Given the description of an element on the screen output the (x, y) to click on. 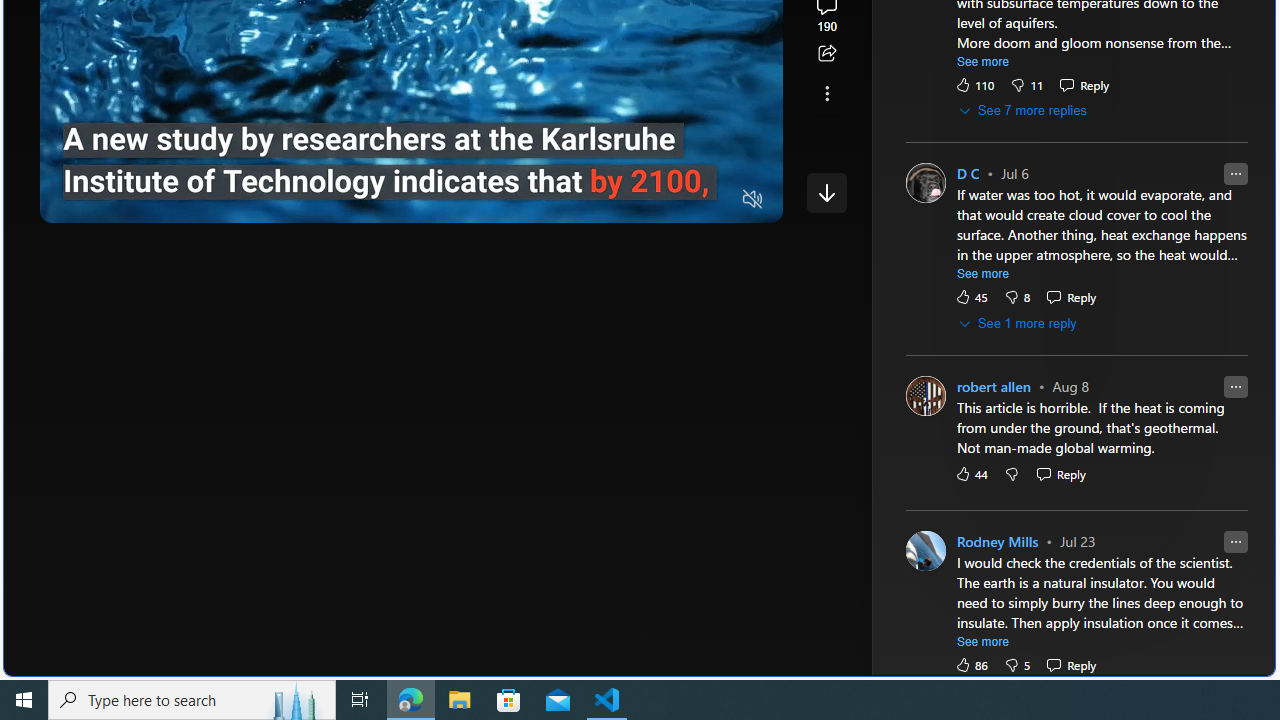
AutomationID: e5rZOEMGacU1 (826, 192)
robert allen (993, 385)
Rodney Mills (997, 541)
Quality Settings (634, 200)
Progress Bar (411, 174)
Profile Picture (924, 549)
Custom Personal Discounts (1084, 284)
